Given the description of an element on the screen output the (x, y) to click on. 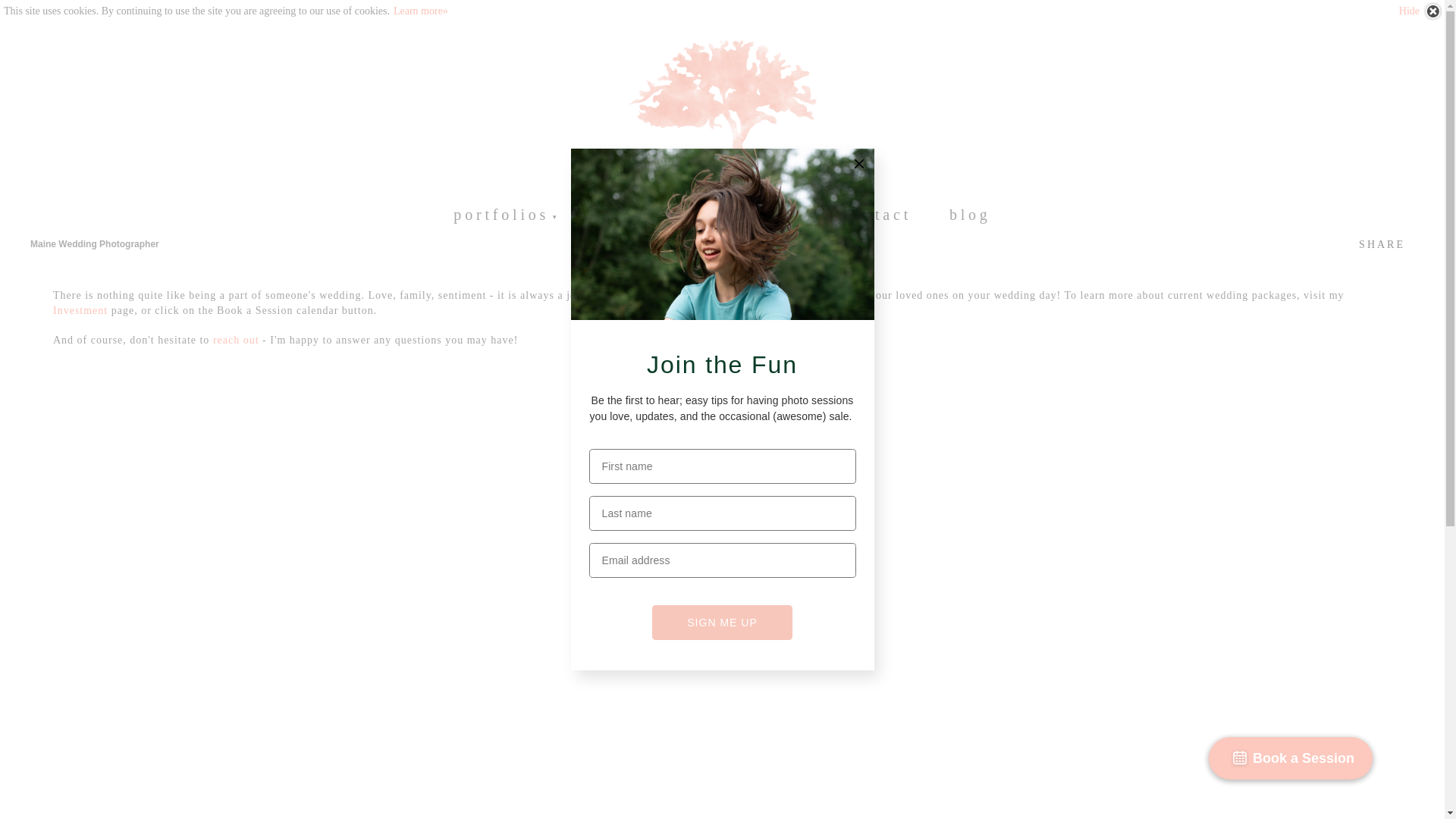
Wild Orchard Studios (721, 114)
contact (876, 214)
reach out (235, 339)
testimonials (656, 214)
blog (970, 214)
Hide (1420, 11)
Investment (79, 310)
